Given the description of an element on the screen output the (x, y) to click on. 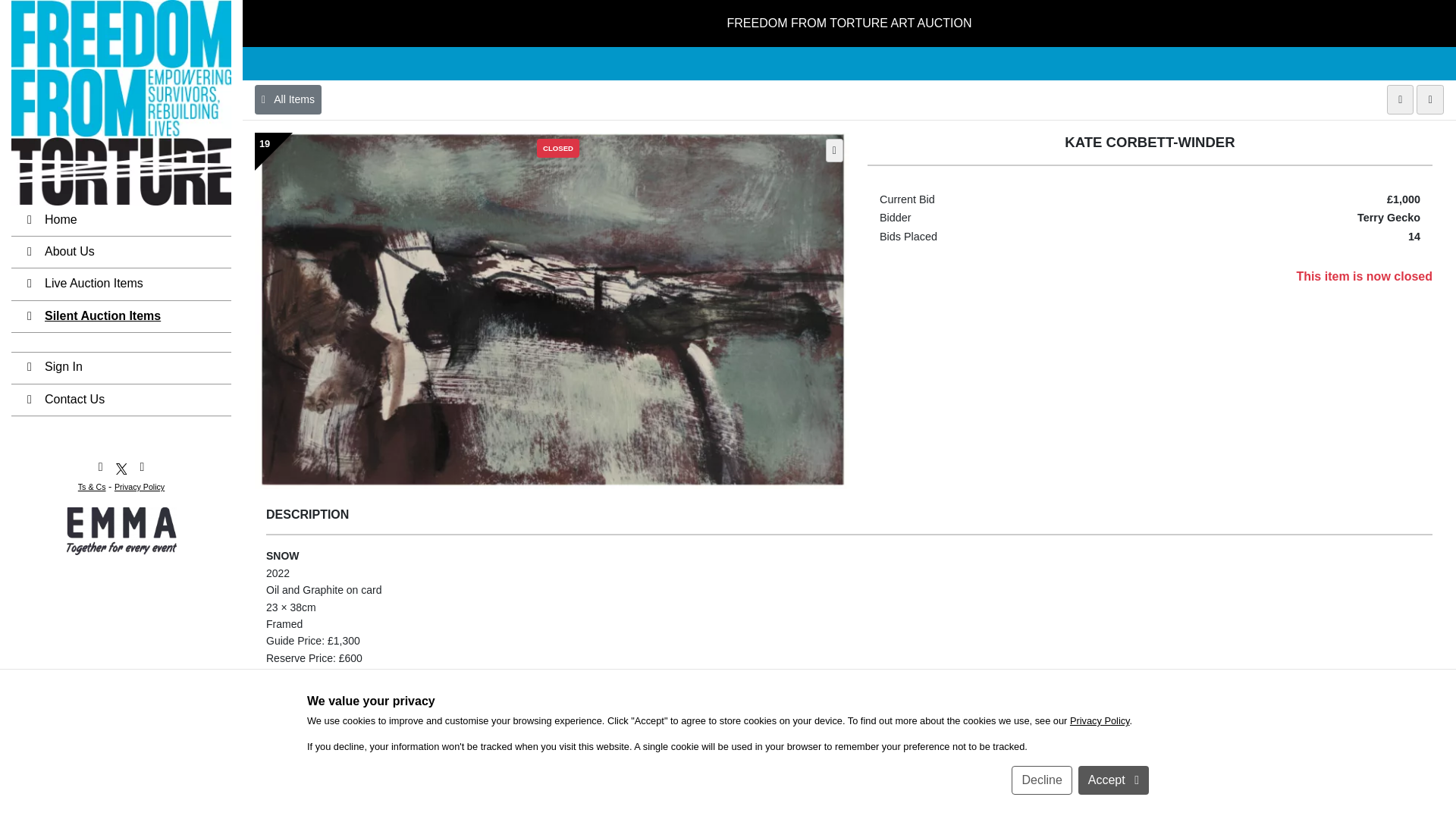
About Us (121, 252)
Privacy Policy (1099, 720)
Privacy Policy (139, 486)
Silent Auction Items (121, 317)
All Items (287, 99)
Decline (1041, 779)
Contact Us (121, 400)
Live Auction Items (121, 284)
Sign In (121, 368)
Accept (1113, 779)
Home (121, 220)
